Given the description of an element on the screen output the (x, y) to click on. 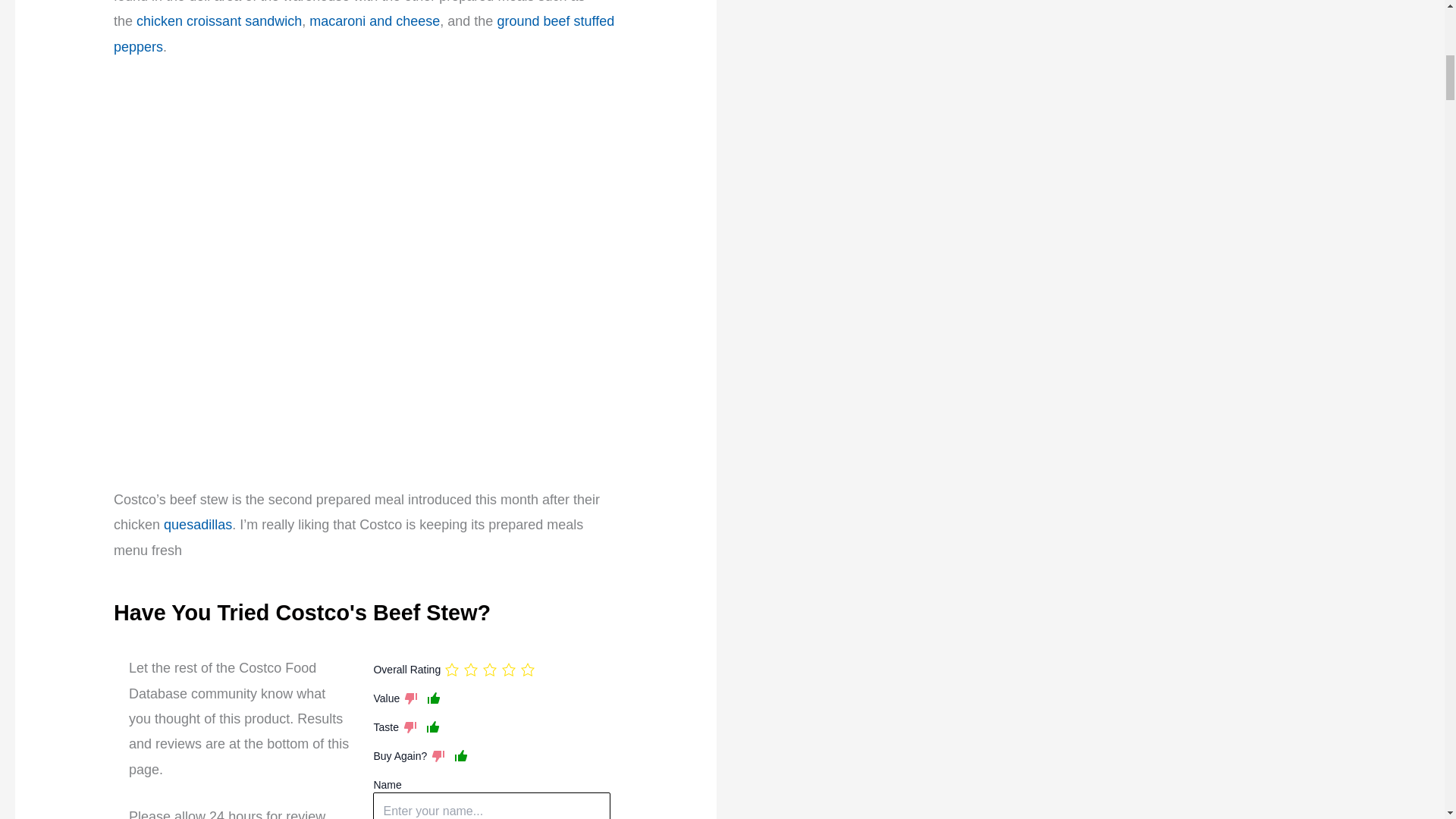
3 stars (489, 669)
thumbs down (411, 698)
chicken croissant sandwich (218, 20)
macaroni and cheese (373, 20)
thumbs up (433, 698)
4 stars (508, 669)
quesadillas (197, 524)
thumbs up (433, 726)
5 stars (527, 669)
2 stars (471, 669)
